Given the description of an element on the screen output the (x, y) to click on. 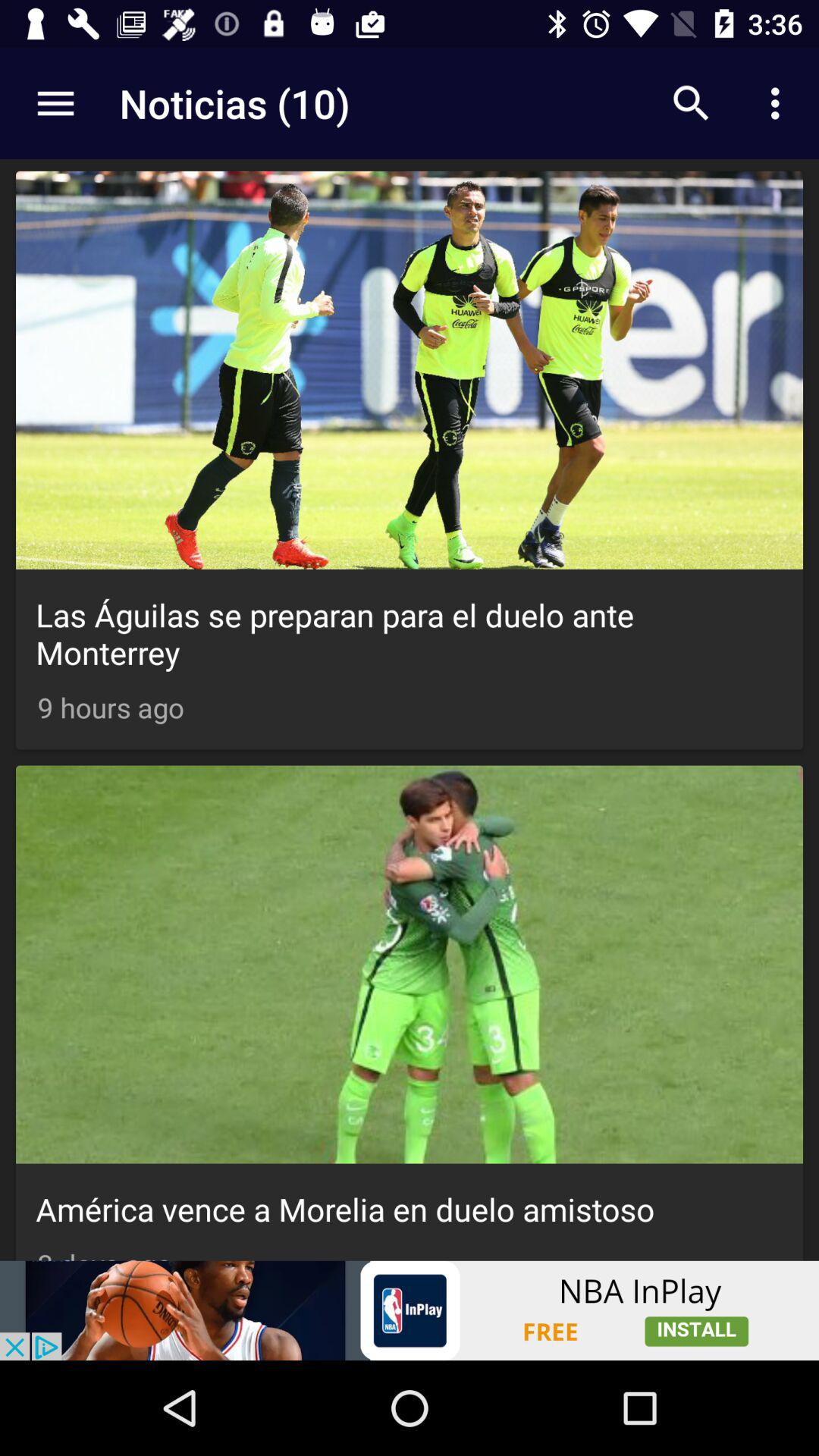
go to advertisement website (409, 1310)
